Given the description of an element on the screen output the (x, y) to click on. 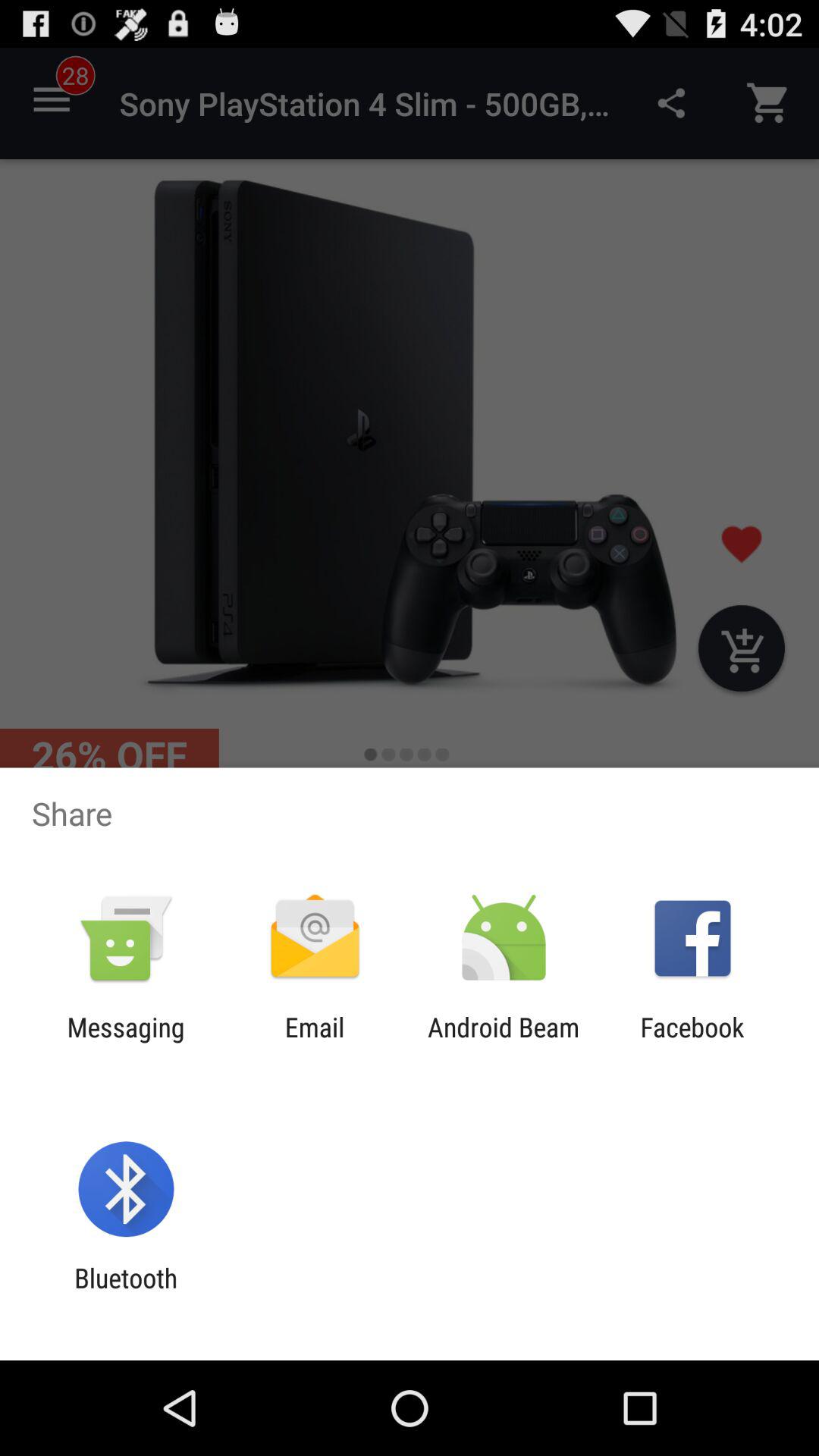
turn off icon to the left of android beam (314, 1042)
